Given the description of an element on the screen output the (x, y) to click on. 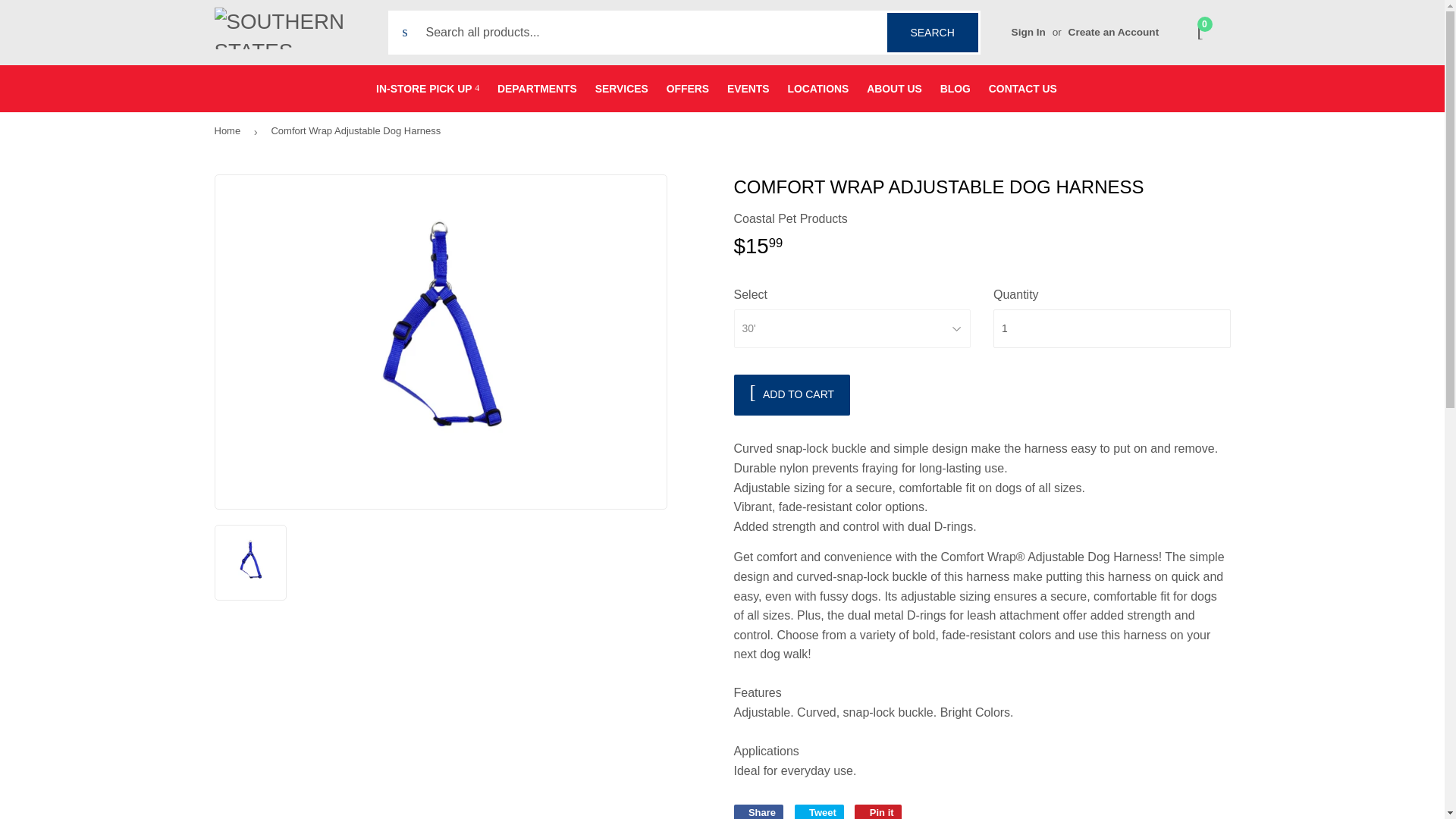
Create an Account (1113, 31)
Tweet on Twitter (819, 811)
Share on Facebook (758, 811)
Sign In (1028, 31)
0 (1201, 32)
Pin on Pinterest (877, 811)
1 (1111, 328)
IN-STORE PICK UP (427, 88)
Open Product Zoom (932, 32)
